Given the description of an element on the screen output the (x, y) to click on. 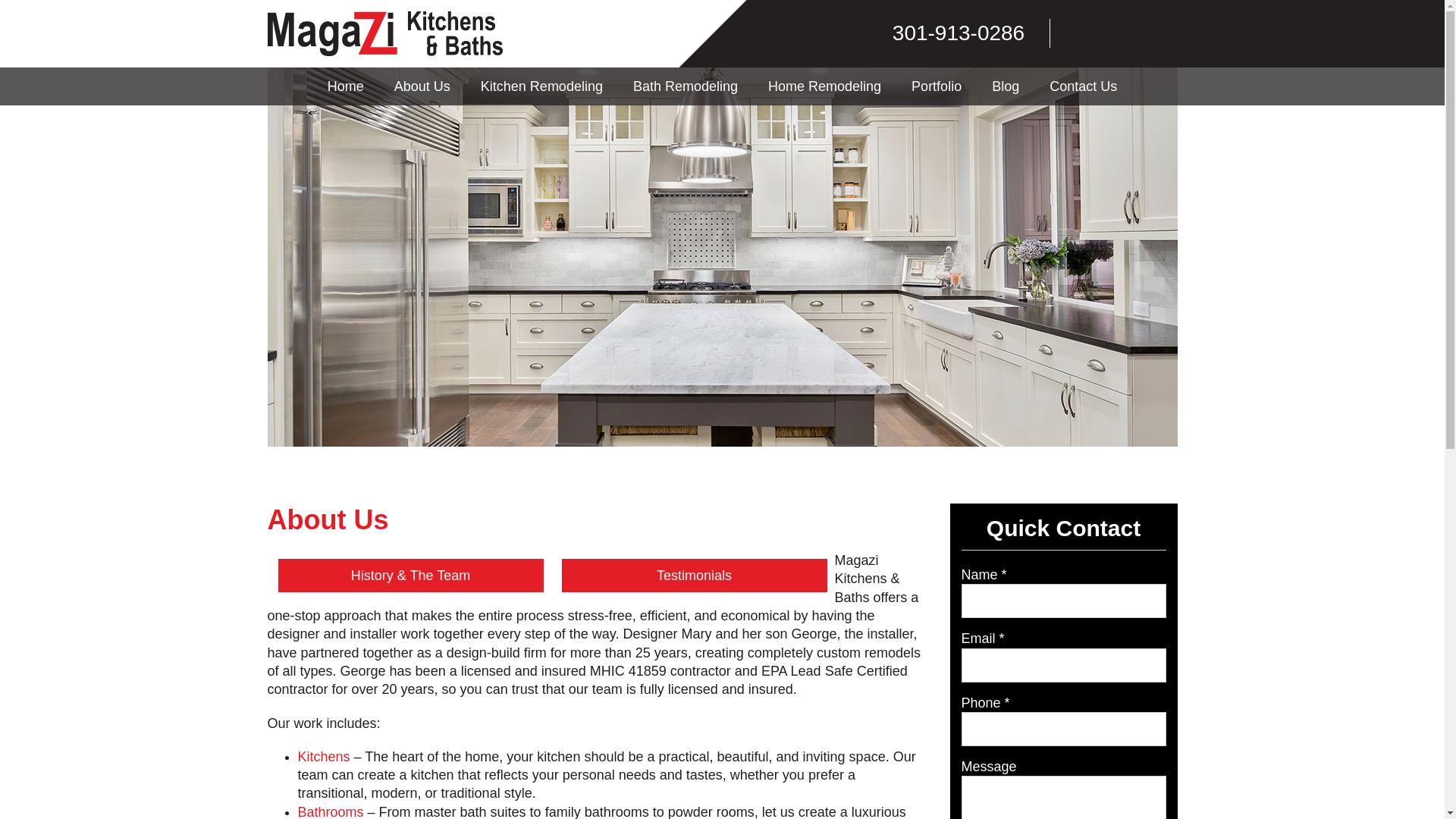
Home (345, 86)
Bathrooms (329, 811)
About Us (421, 86)
Kitchens (323, 756)
Home Remodeling (824, 86)
301-913-0286 (949, 33)
Contact Us (1082, 86)
Bath Remodeling (684, 86)
Testimonials (693, 575)
Portfolio (936, 86)
Blog (1004, 86)
Kitchen Remodeling (541, 86)
